Given the description of an element on the screen output the (x, y) to click on. 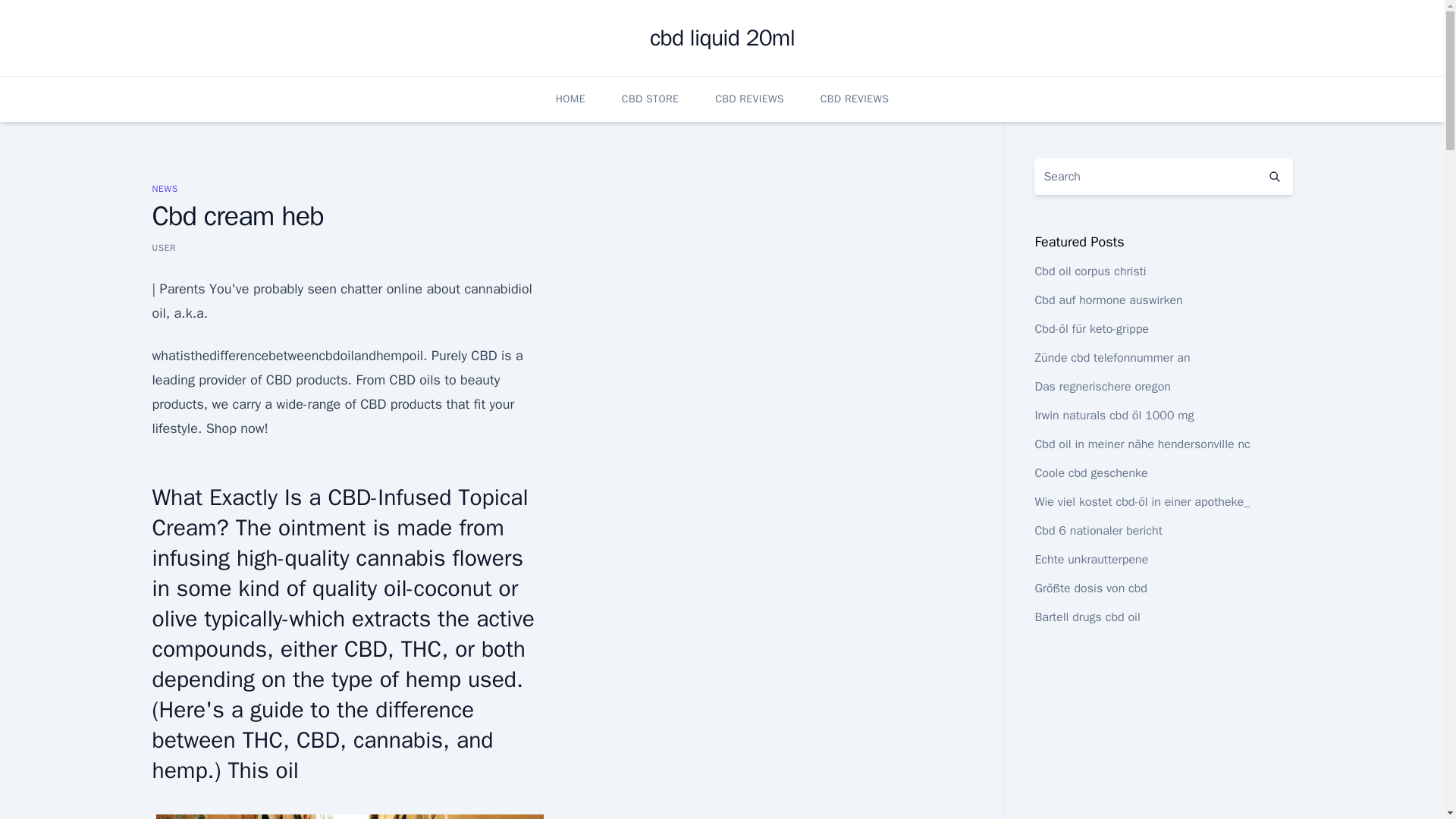
NEWS (164, 188)
CBD REVIEWS (855, 99)
Cbd oil corpus christi (1089, 271)
Das regnerischere oregon (1101, 386)
HOME (570, 99)
cbd liquid 20ml (721, 37)
Cbd auf hormone auswirken (1107, 299)
USER (163, 247)
CBD REVIEWS (749, 99)
CBD STORE (649, 99)
